Given the description of an element on the screen output the (x, y) to click on. 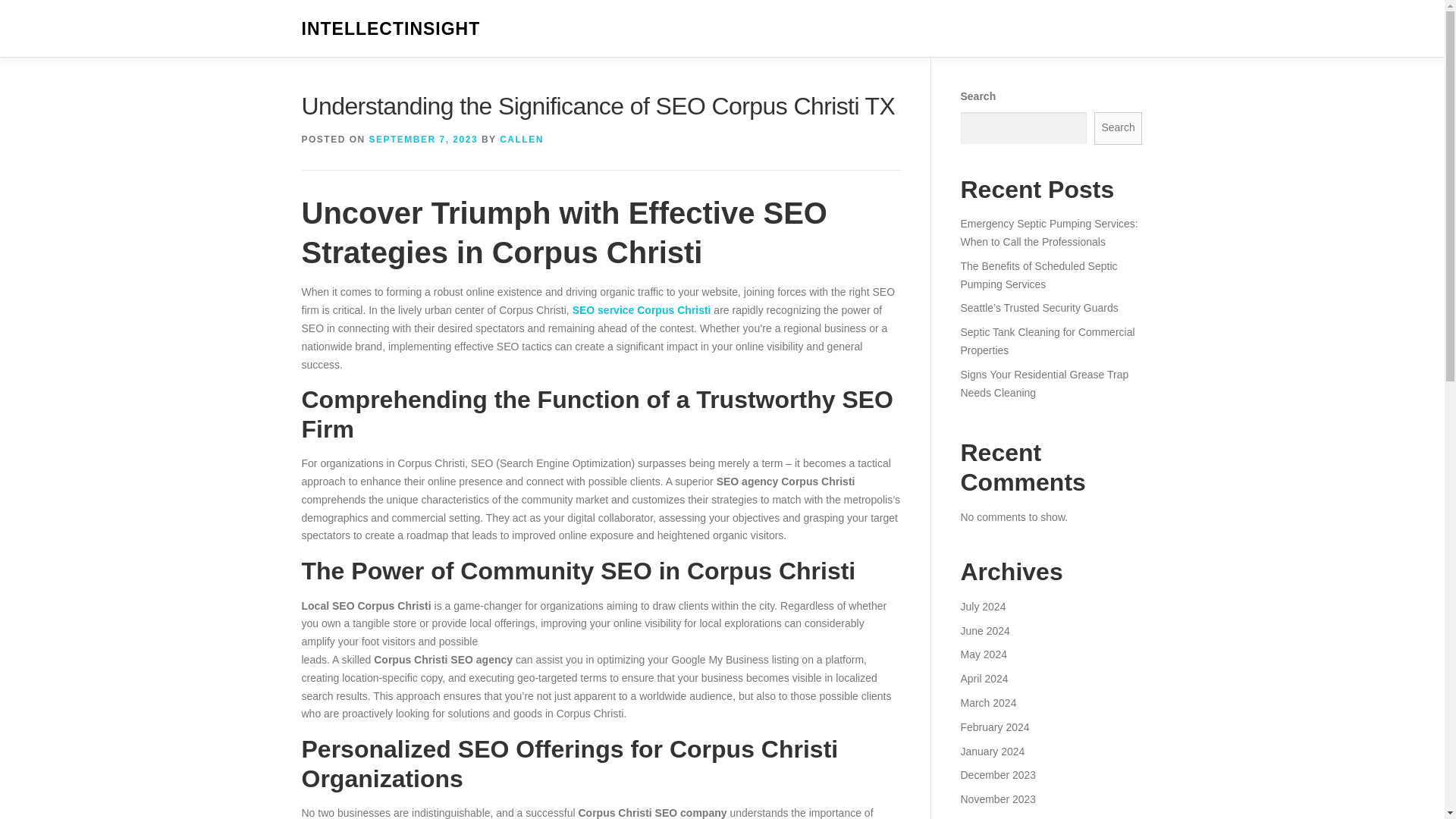
SEPTEMBER 7, 2023 (424, 139)
Search (1118, 128)
SEO service Corpus Christi (641, 309)
March 2024 (987, 702)
Septic Tank Cleaning for Commercial Properties (1046, 340)
November 2023 (997, 799)
May 2024 (982, 654)
January 2024 (992, 750)
Signs Your Residential Grease Trap Needs Cleaning (1043, 383)
October 2023 (992, 818)
